Given the description of an element on the screen output the (x, y) to click on. 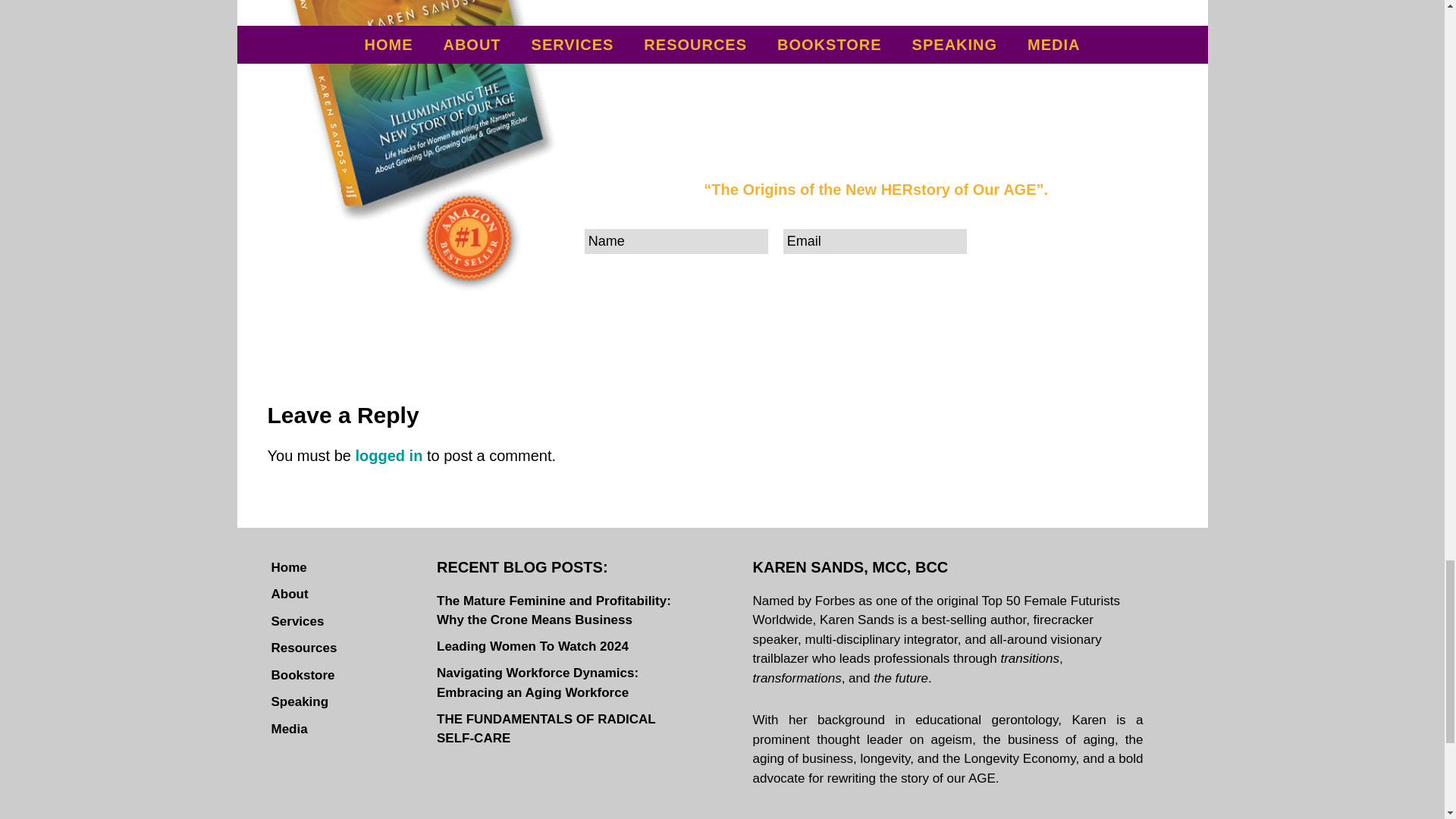
Get the Mini eBook! (1076, 240)
